Given the description of an element on the screen output the (x, y) to click on. 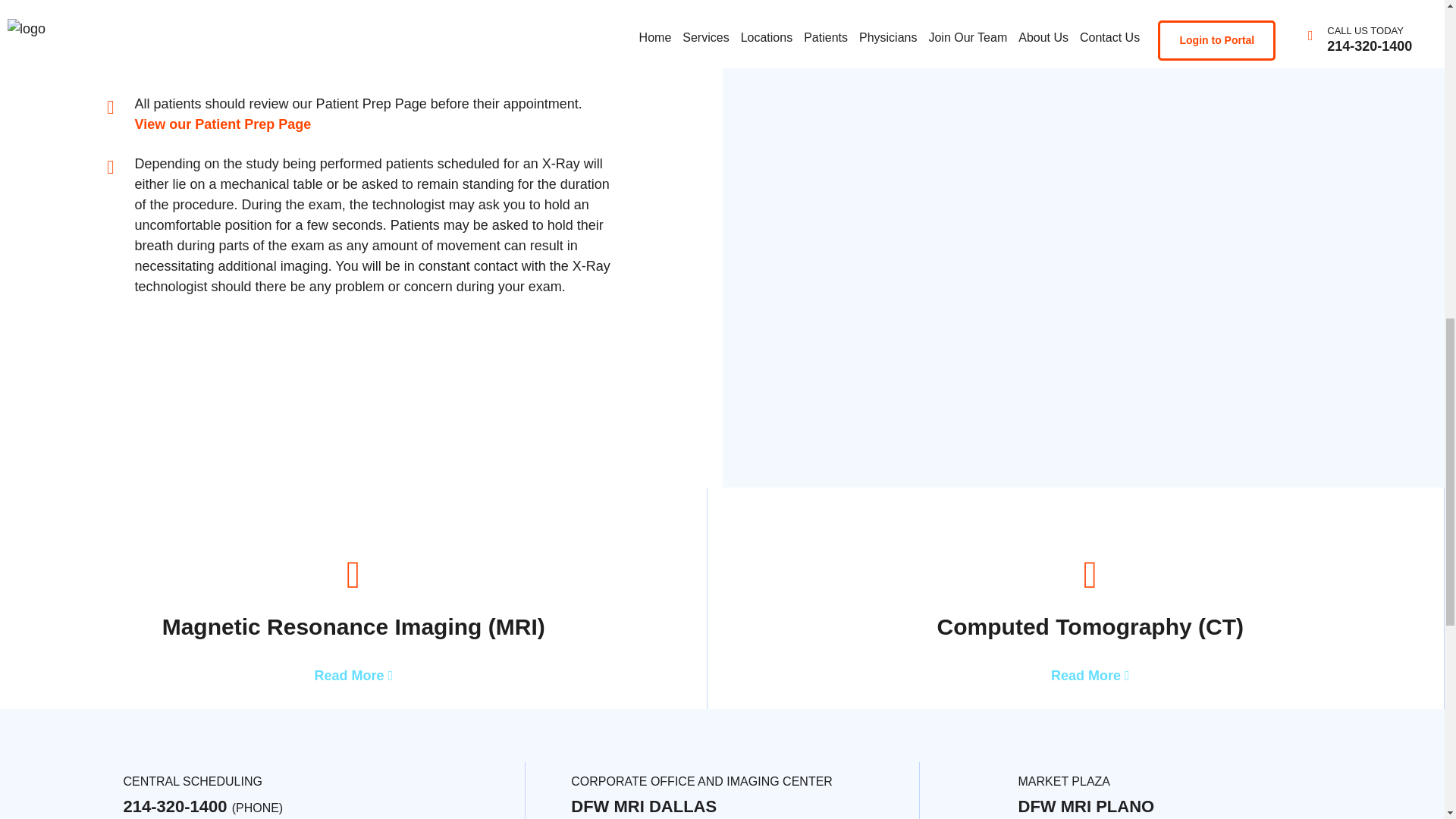
Read More (353, 675)
Read More (1090, 675)
